Given the description of an element on the screen output the (x, y) to click on. 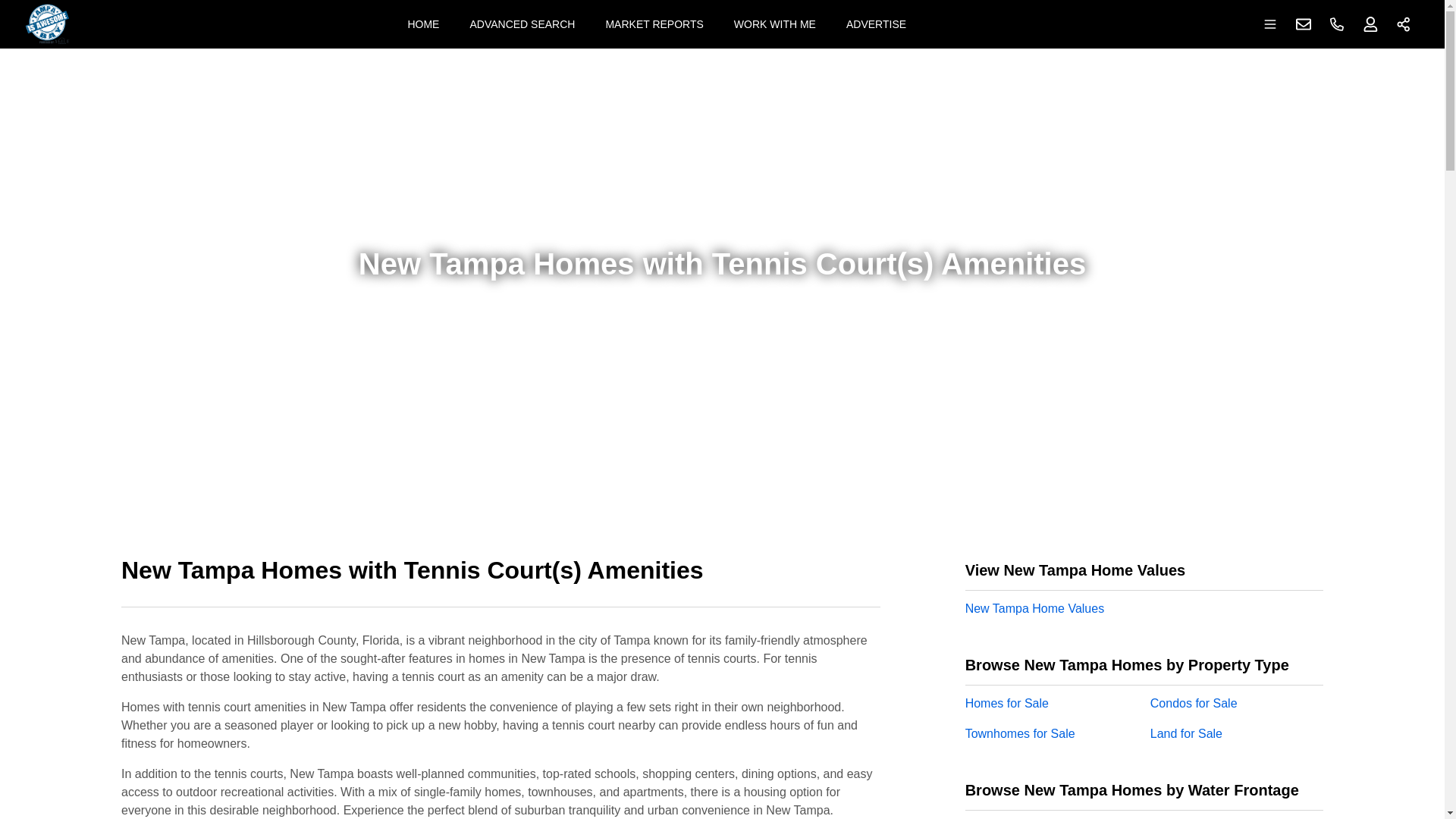
Open main menu (1270, 23)
Sign up or Sign in (1370, 23)
Share (1404, 23)
WORK WITH ME (775, 24)
ADVANCED SEARCH (521, 24)
HOME (422, 24)
Phone number (1337, 23)
ADVERTISE (876, 24)
Contact us (1303, 23)
MARKET REPORTS (653, 24)
Tampabayisawesome.com (46, 24)
